Given the description of an element on the screen output the (x, y) to click on. 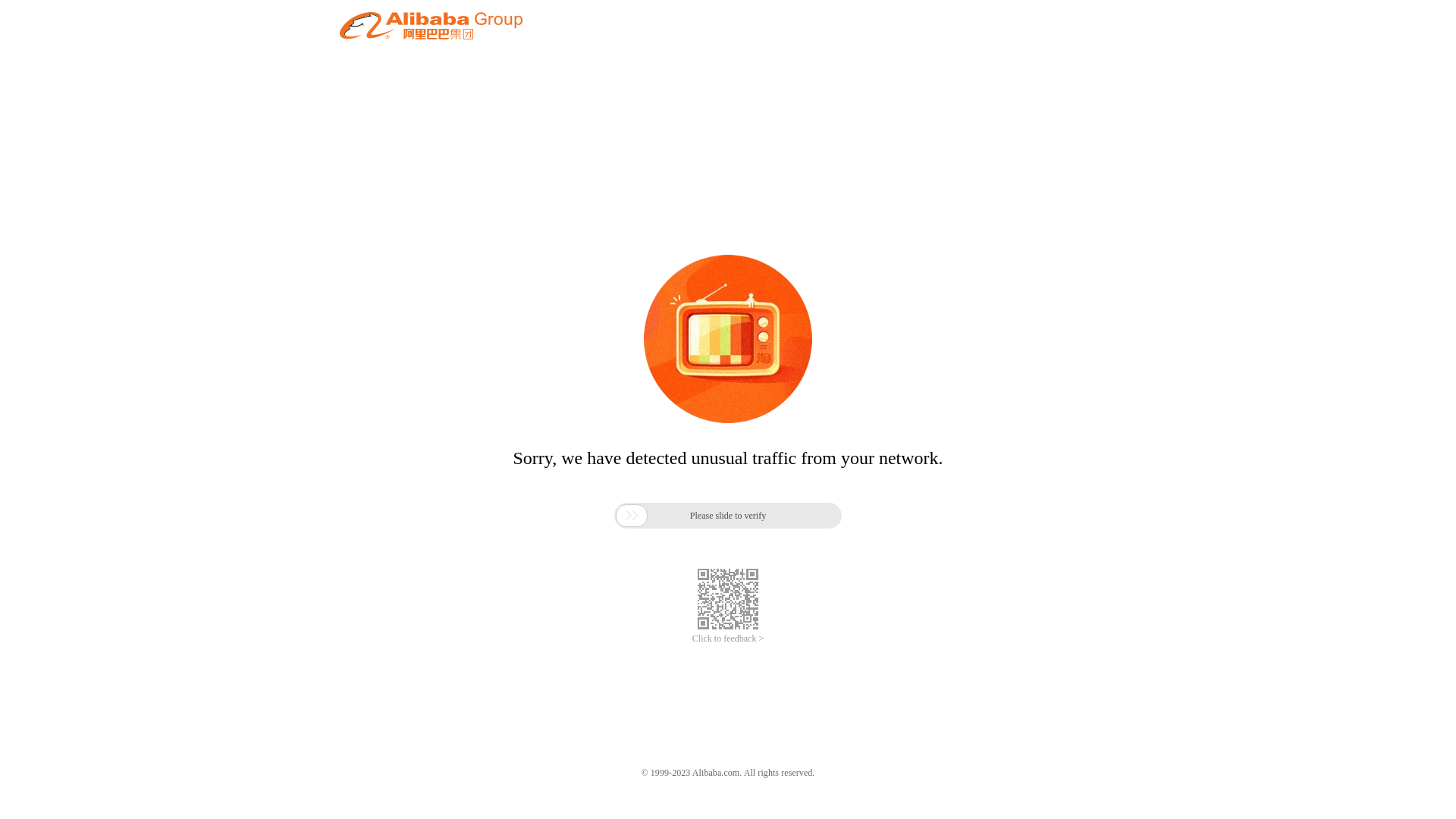
Click to feedback > Element type: text (727, 638)
